Given the description of an element on the screen output the (x, y) to click on. 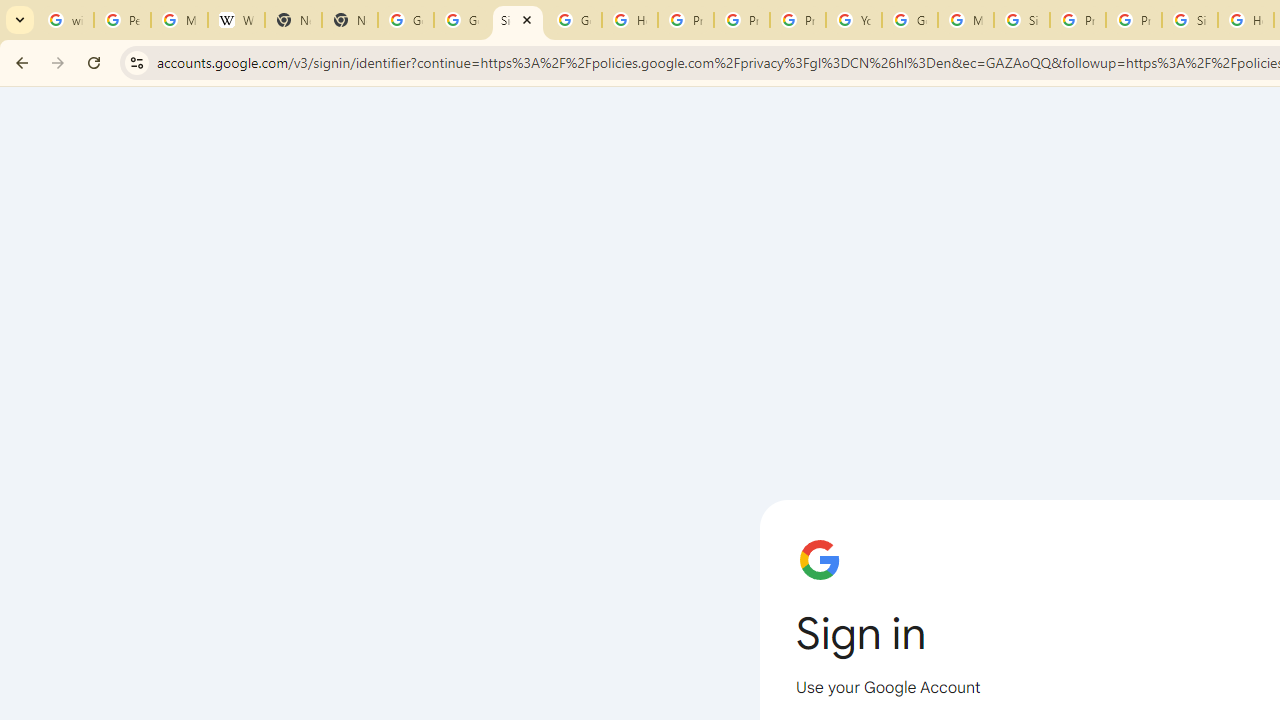
Manage your Location History - Google Search Help (179, 20)
New Tab (293, 20)
Sign in - Google Accounts (518, 20)
New Tab (349, 20)
YouTube (853, 20)
